Given the description of an element on the screen output the (x, y) to click on. 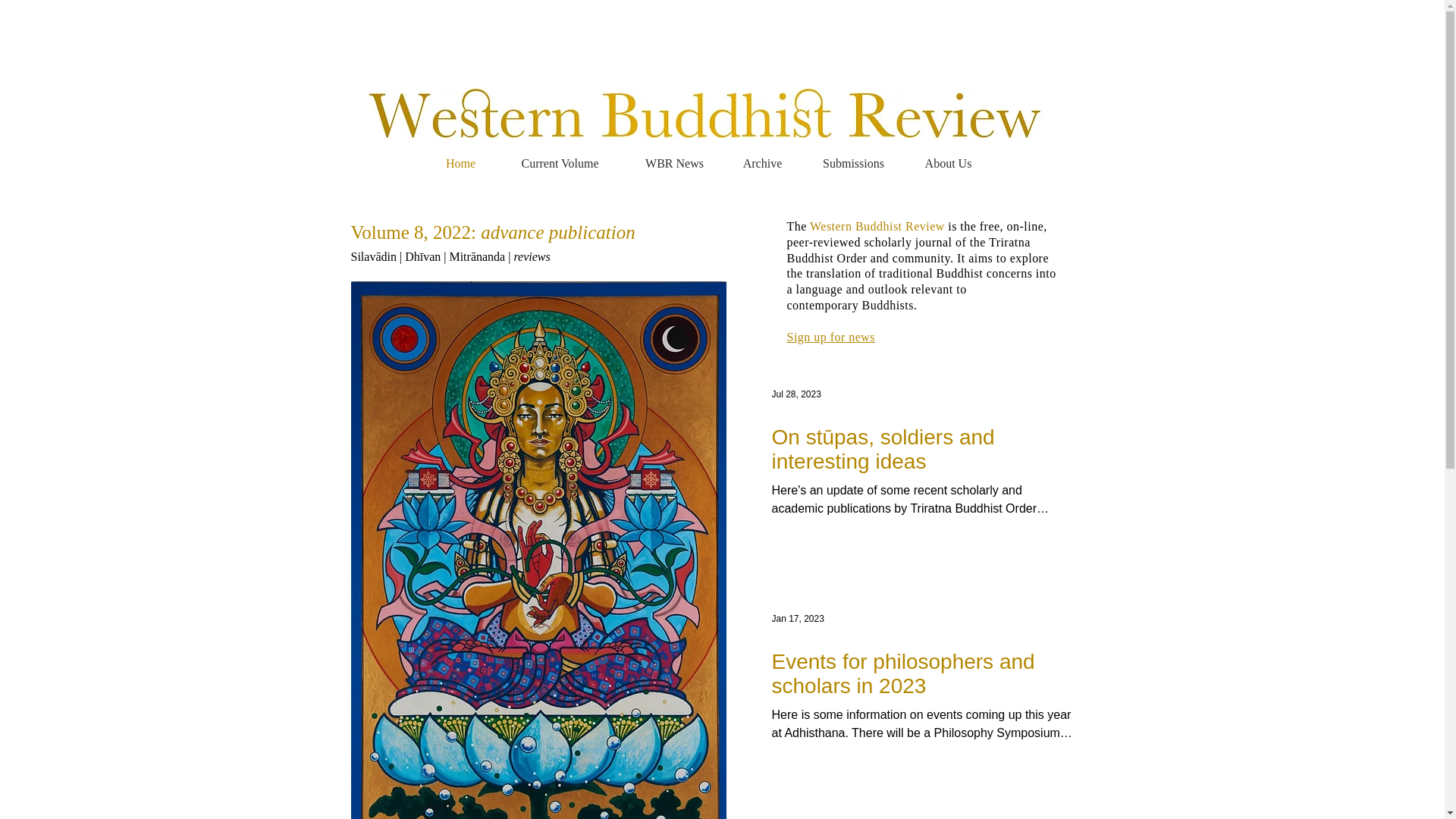
WBR News (673, 163)
Archive (761, 163)
Events for philosophers and scholars in 2023 (923, 674)
Volume 8, 2022: advance publication (492, 231)
Jul 28, 2023 (796, 394)
Jan 17, 2023 (797, 618)
Submissions (852, 163)
Current Volume (559, 163)
Home (460, 163)
About Us (947, 163)
Sign up for news (831, 336)
